Given the description of an element on the screen output the (x, y) to click on. 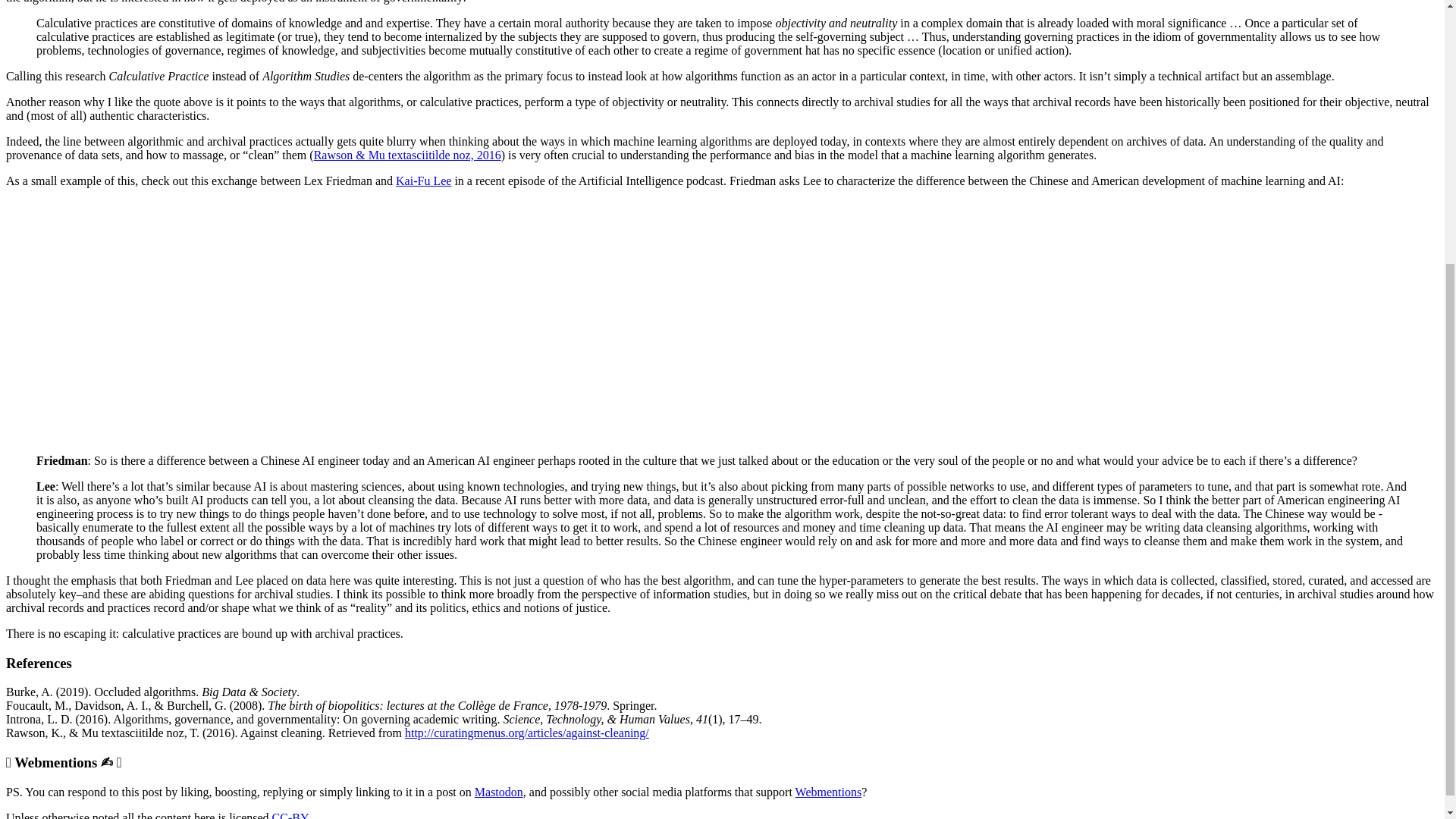
Mastodon (498, 791)
Kai-Fu Lee (423, 180)
Webmentions (827, 791)
